Given the description of an element on the screen output the (x, y) to click on. 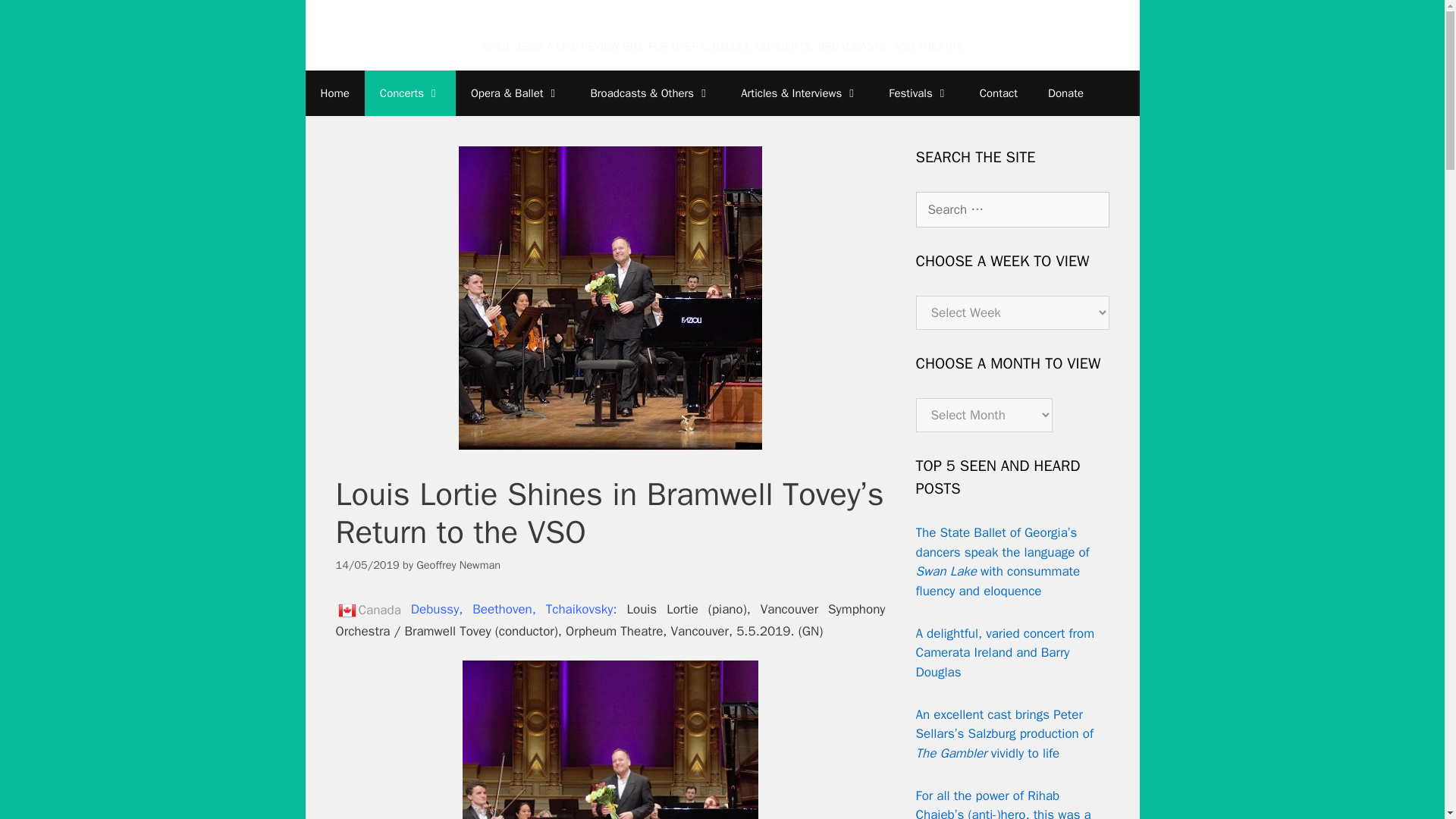
Seen and Heard International (722, 25)
Search for: (1012, 208)
View all posts by Geoffrey Newman (458, 564)
Canada (346, 609)
Season Previews (799, 92)
